Given the description of an element on the screen output the (x, y) to click on. 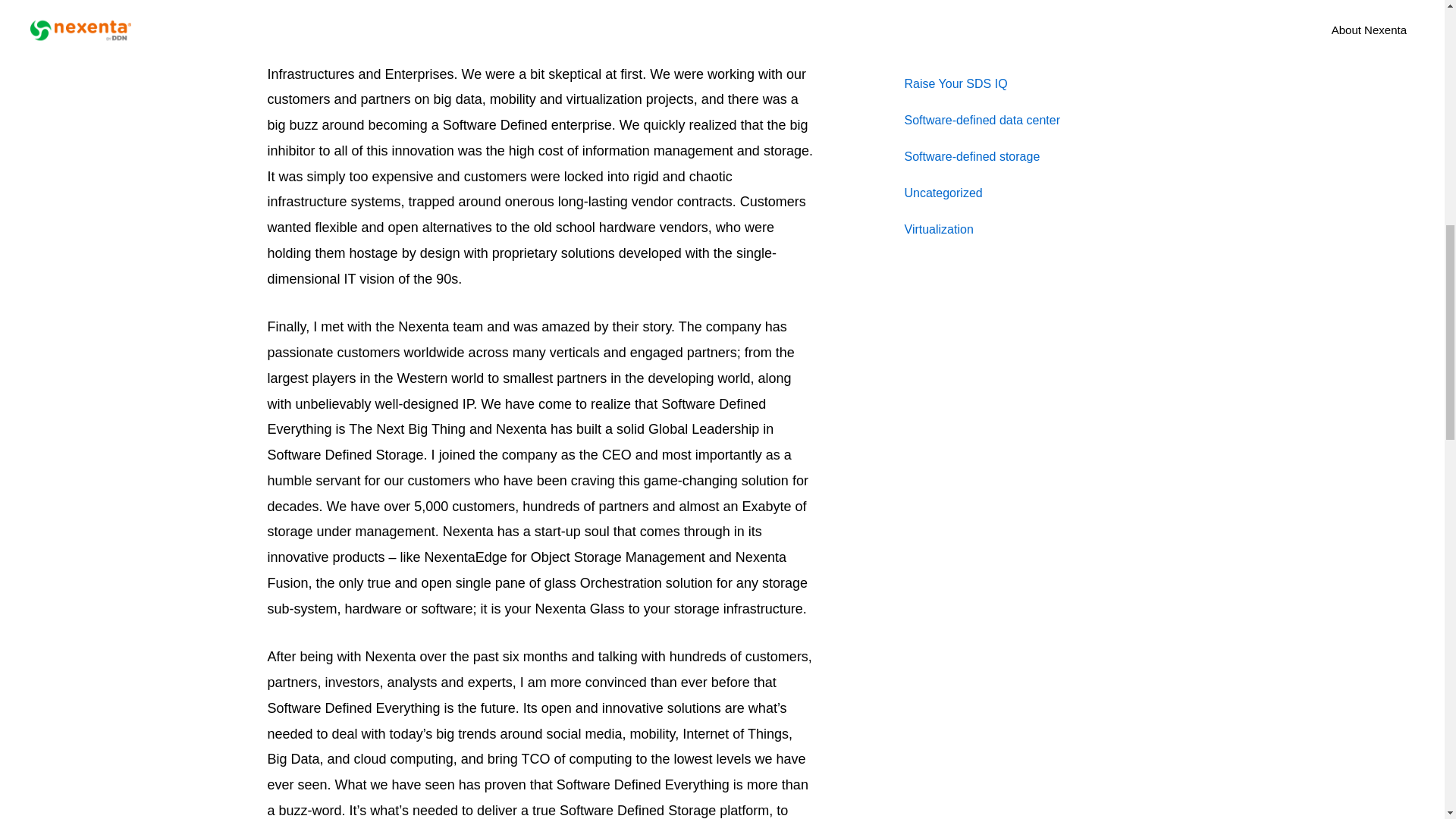
NAS (916, 10)
Virtualization (938, 228)
Software-defined storage (971, 155)
Uncategorized (942, 192)
Software-defined data center (981, 119)
Object Storage (944, 47)
Raise Your SDS IQ (955, 83)
